Given the description of an element on the screen output the (x, y) to click on. 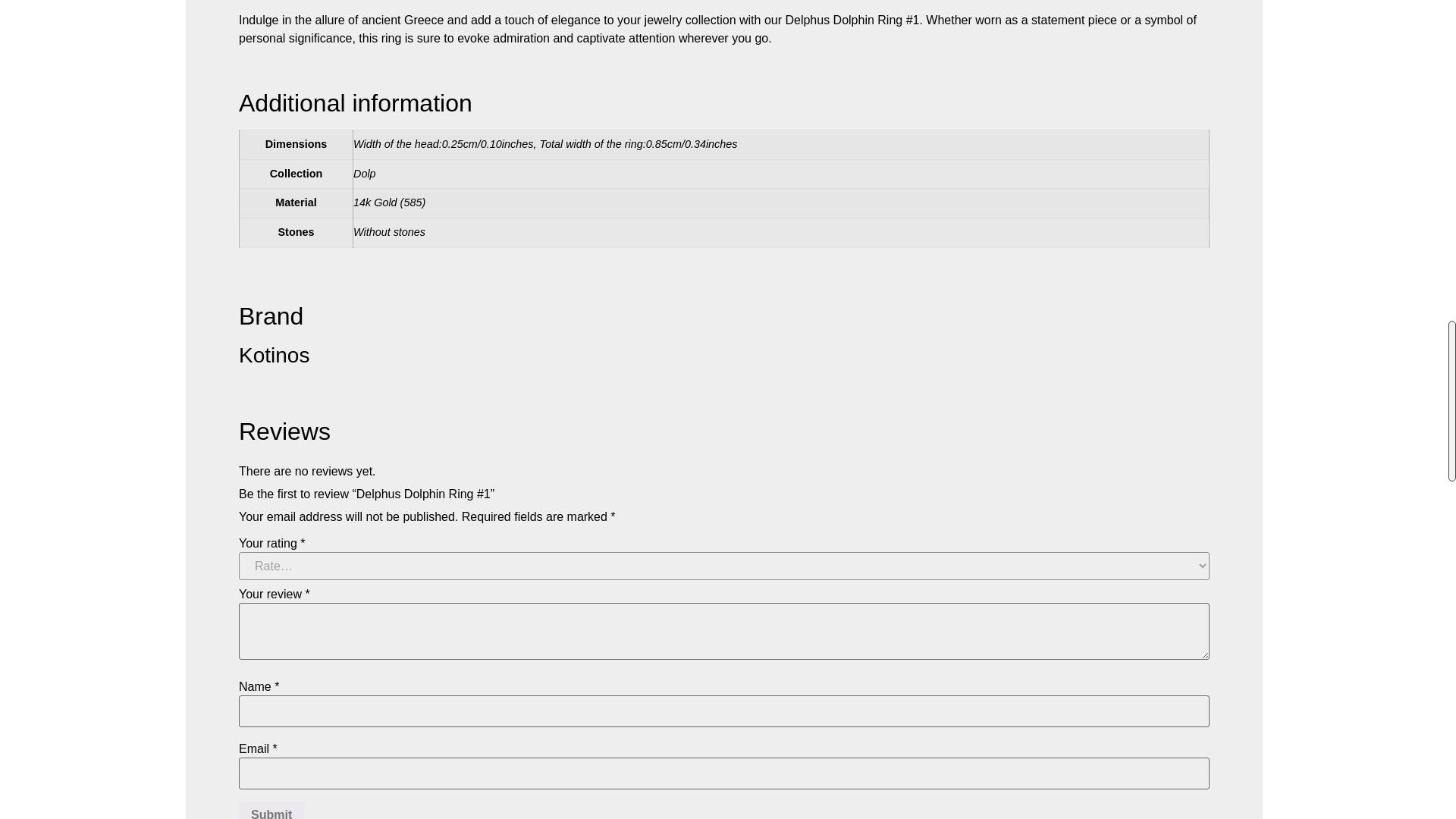
Submit (271, 810)
